Given the description of an element on the screen output the (x, y) to click on. 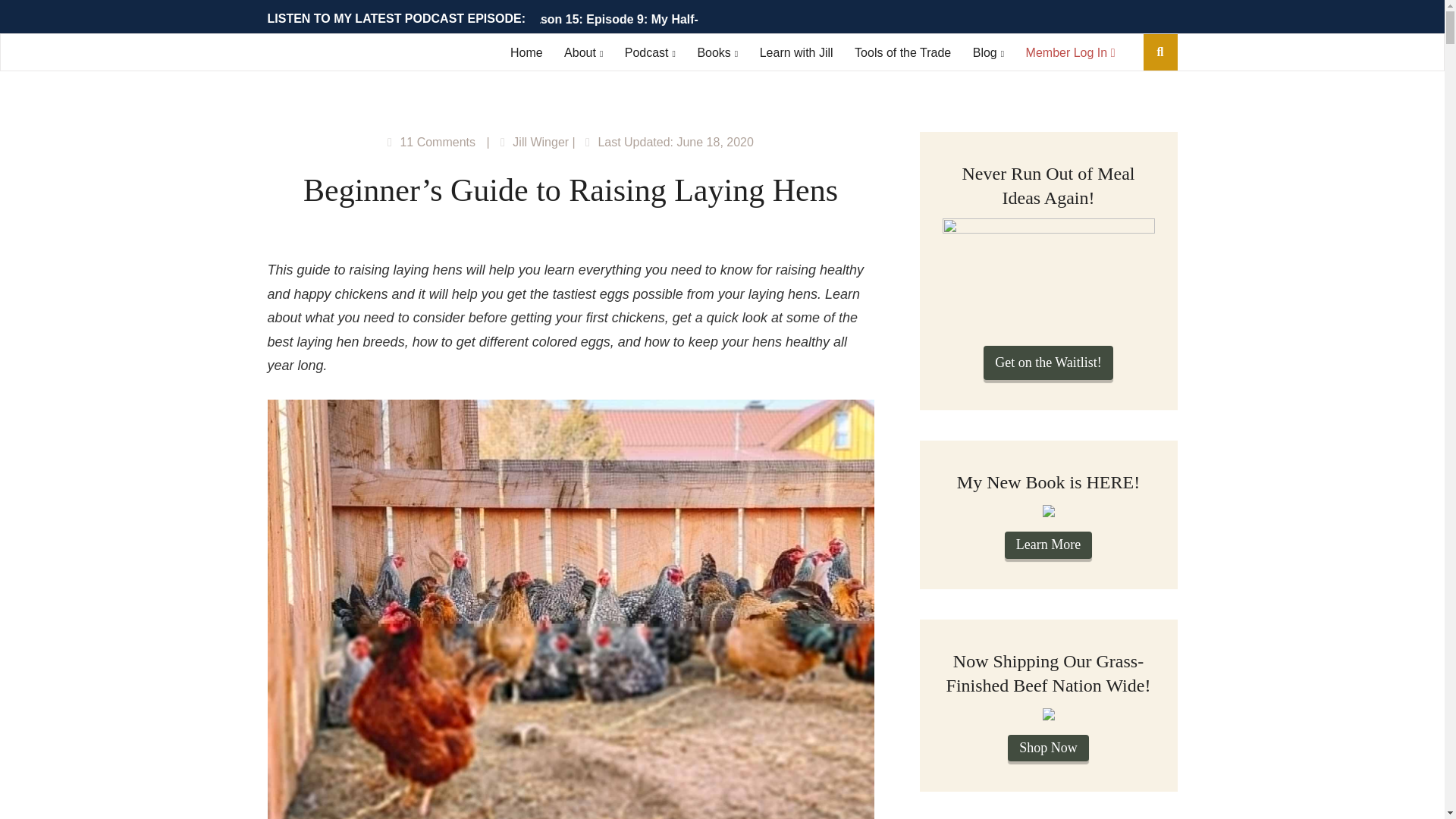
Books (717, 52)
About (583, 52)
Tools of the Trade (902, 52)
Home (527, 52)
11 Comments (437, 141)
The Prairie Homestead (347, 53)
Jill Winger (540, 141)
Learn with Jill (796, 52)
Member Log In (1070, 52)
